Given the description of an element on the screen output the (x, y) to click on. 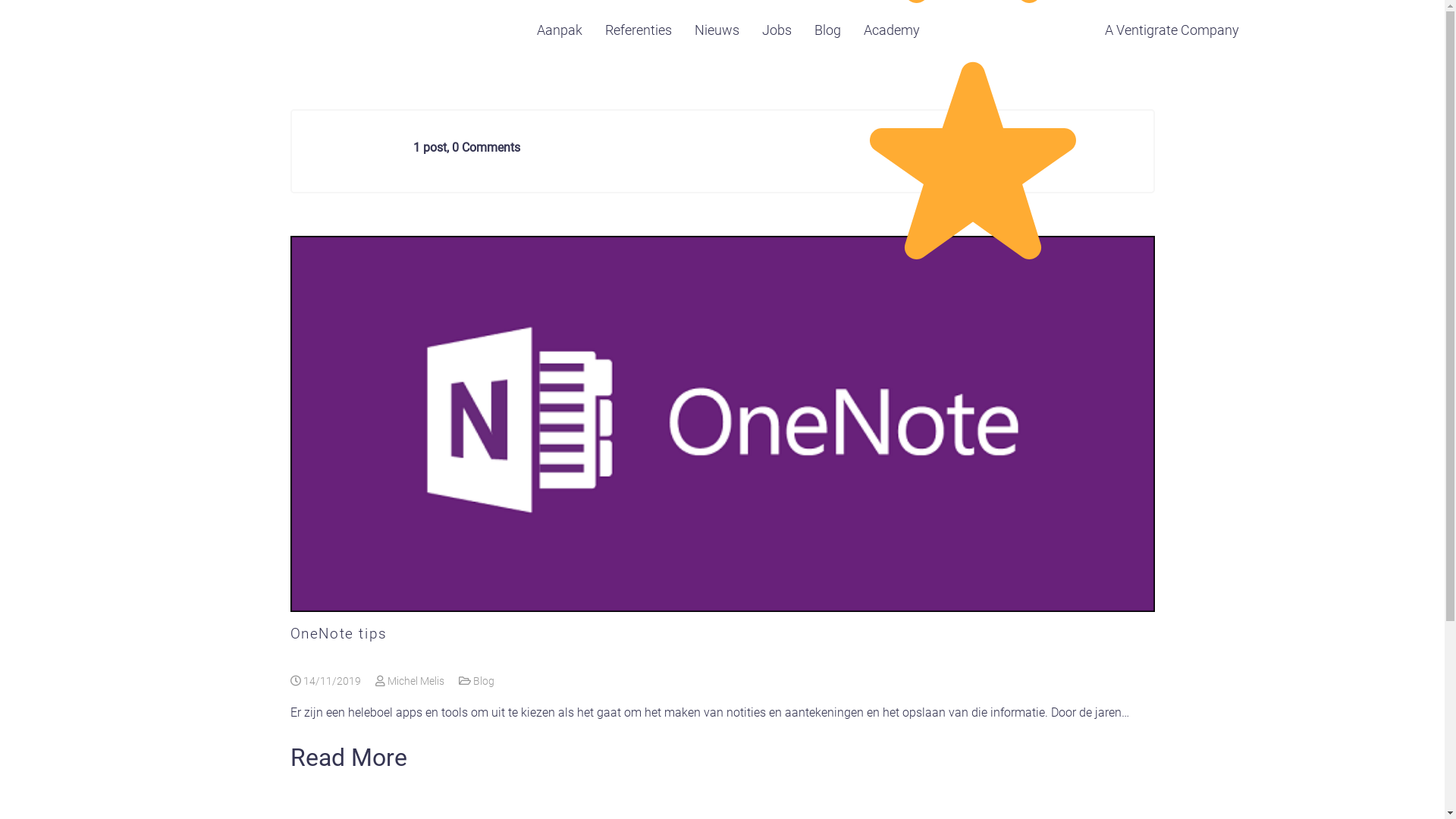
Jobs Element type: text (776, 30)
OneNote tips Element type: text (337, 633)
Blog Element type: text (827, 30)
Michel Melis Element type: text (409, 680)
Nieuws Element type: text (716, 30)
Aanpak Element type: text (559, 30)
A Ventigrate Company Element type: text (1171, 30)
Blog Element type: text (483, 680)
Referenties Element type: text (638, 30)
Read More Element type: text (347, 757)
